Given the description of an element on the screen output the (x, y) to click on. 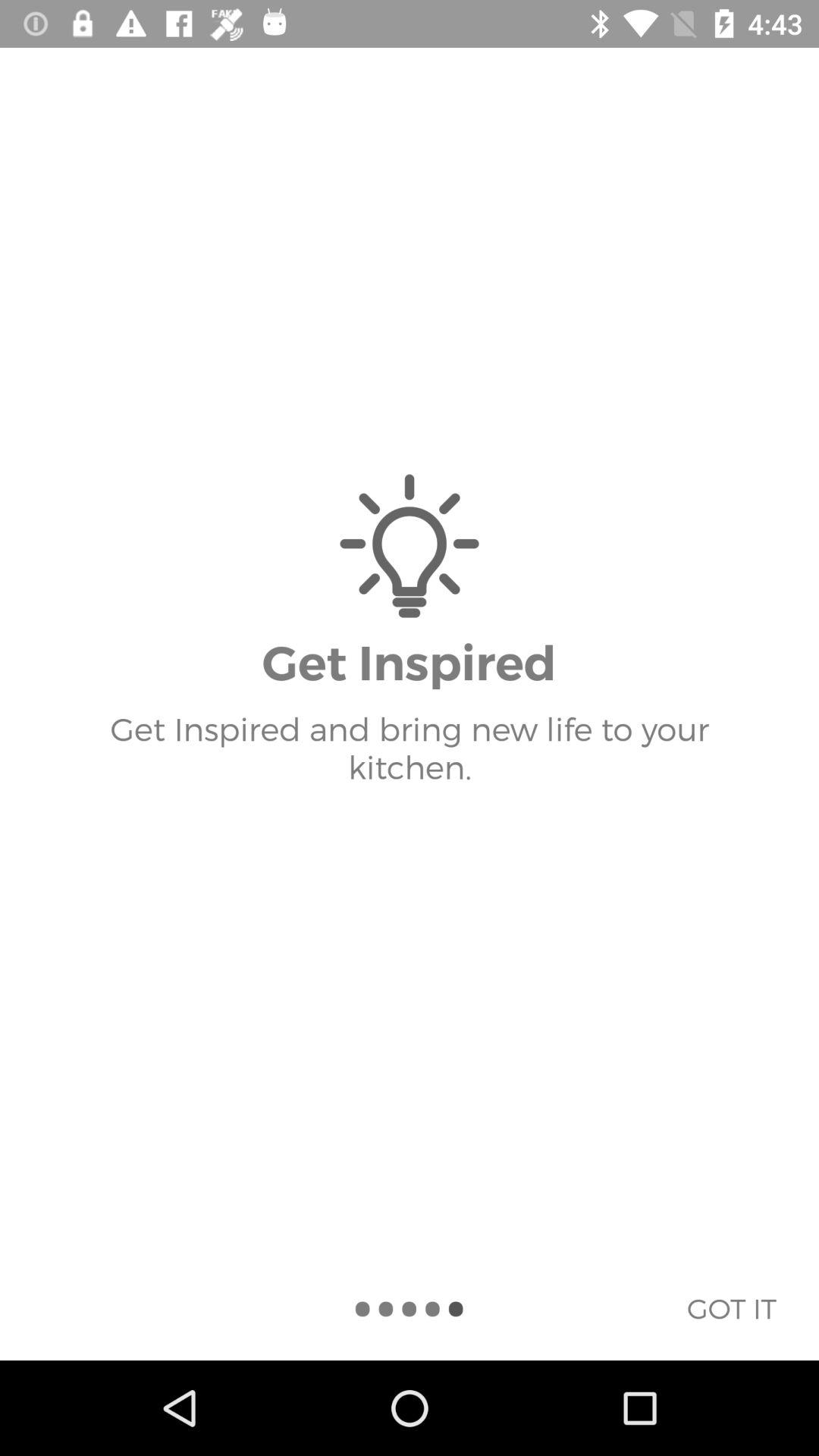
press the icon below get inspired and item (731, 1308)
